Given the description of an element on the screen output the (x, y) to click on. 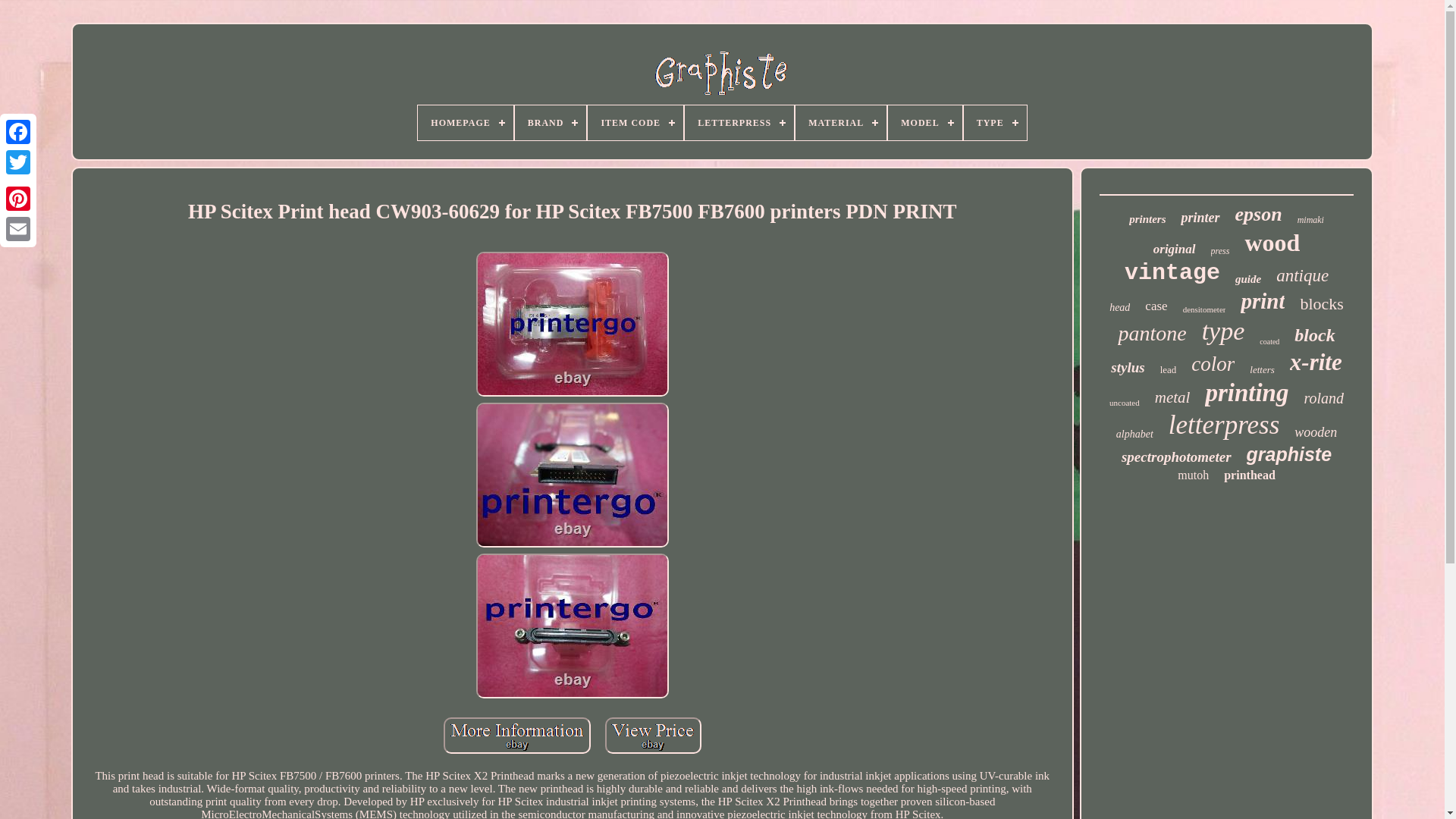
BRAND (550, 122)
Facebook (17, 132)
ITEM CODE (635, 122)
HOMEPAGE (464, 122)
